Given the description of an element on the screen output the (x, y) to click on. 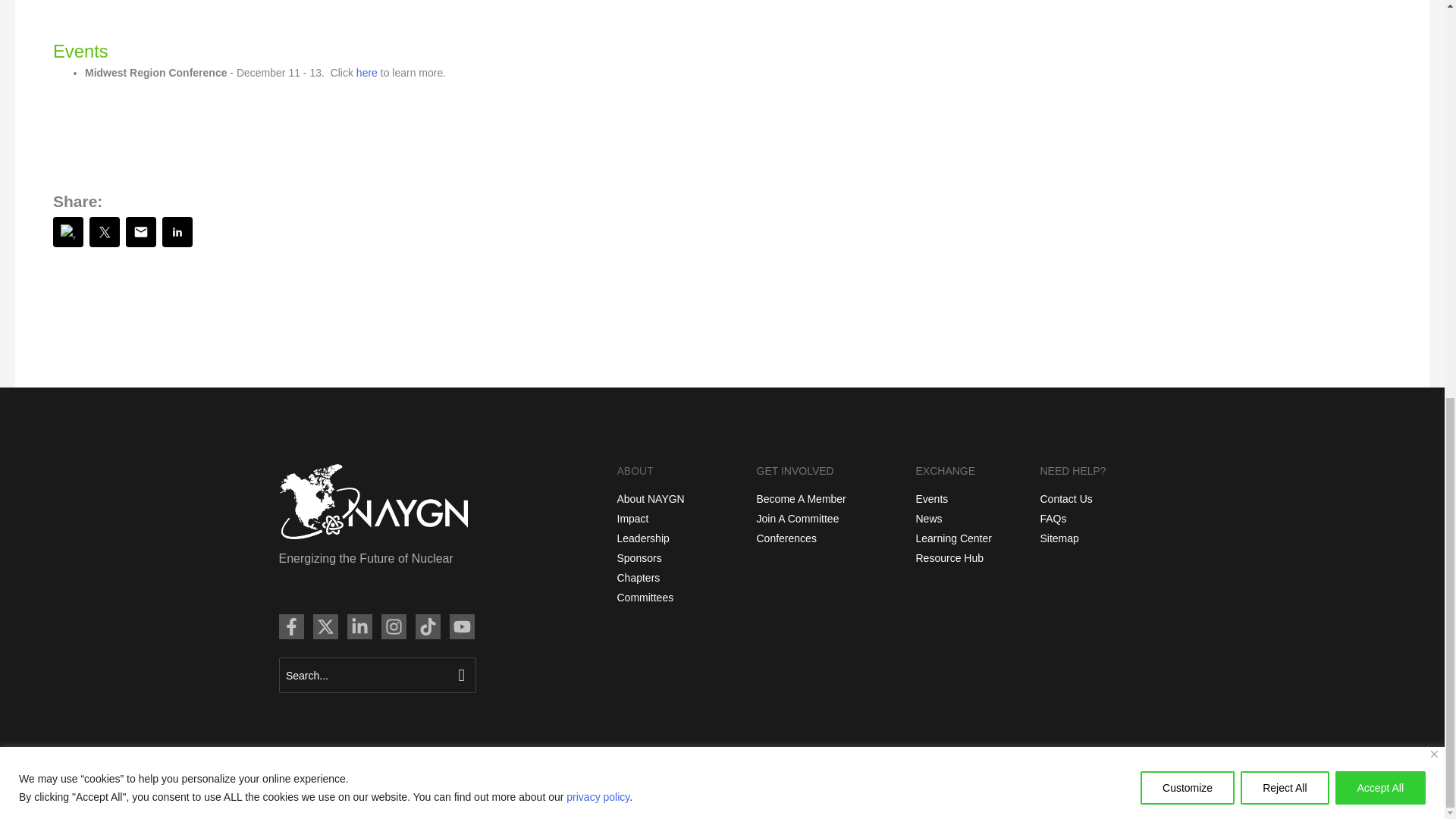
Accept All (1380, 15)
privacy policy (597, 22)
Customize (1187, 15)
Reject All (1283, 15)
